Given the description of an element on the screen output the (x, y) to click on. 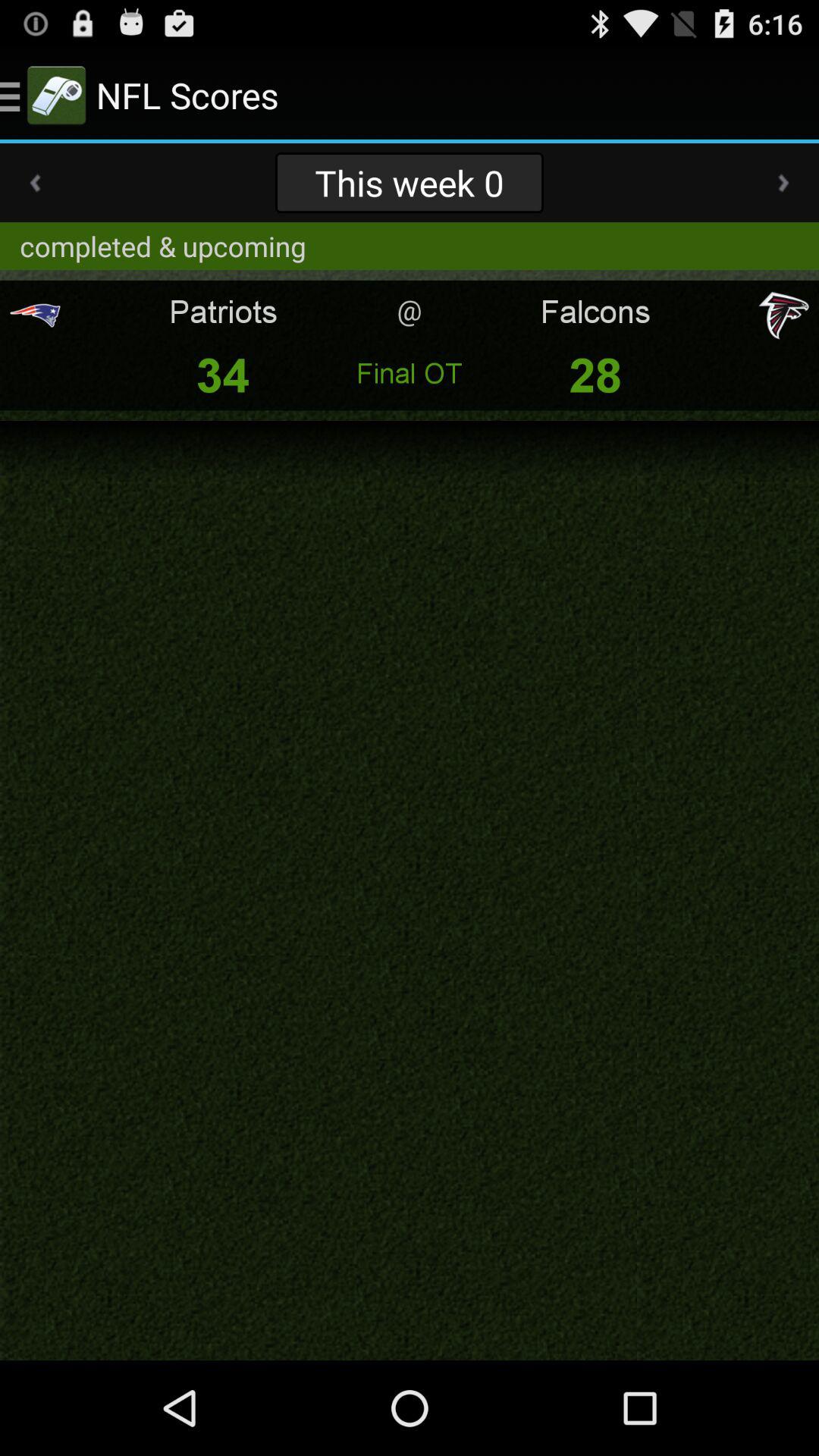
launch the item above completed & upcoming app (409, 182)
